Given the description of an element on the screen output the (x, y) to click on. 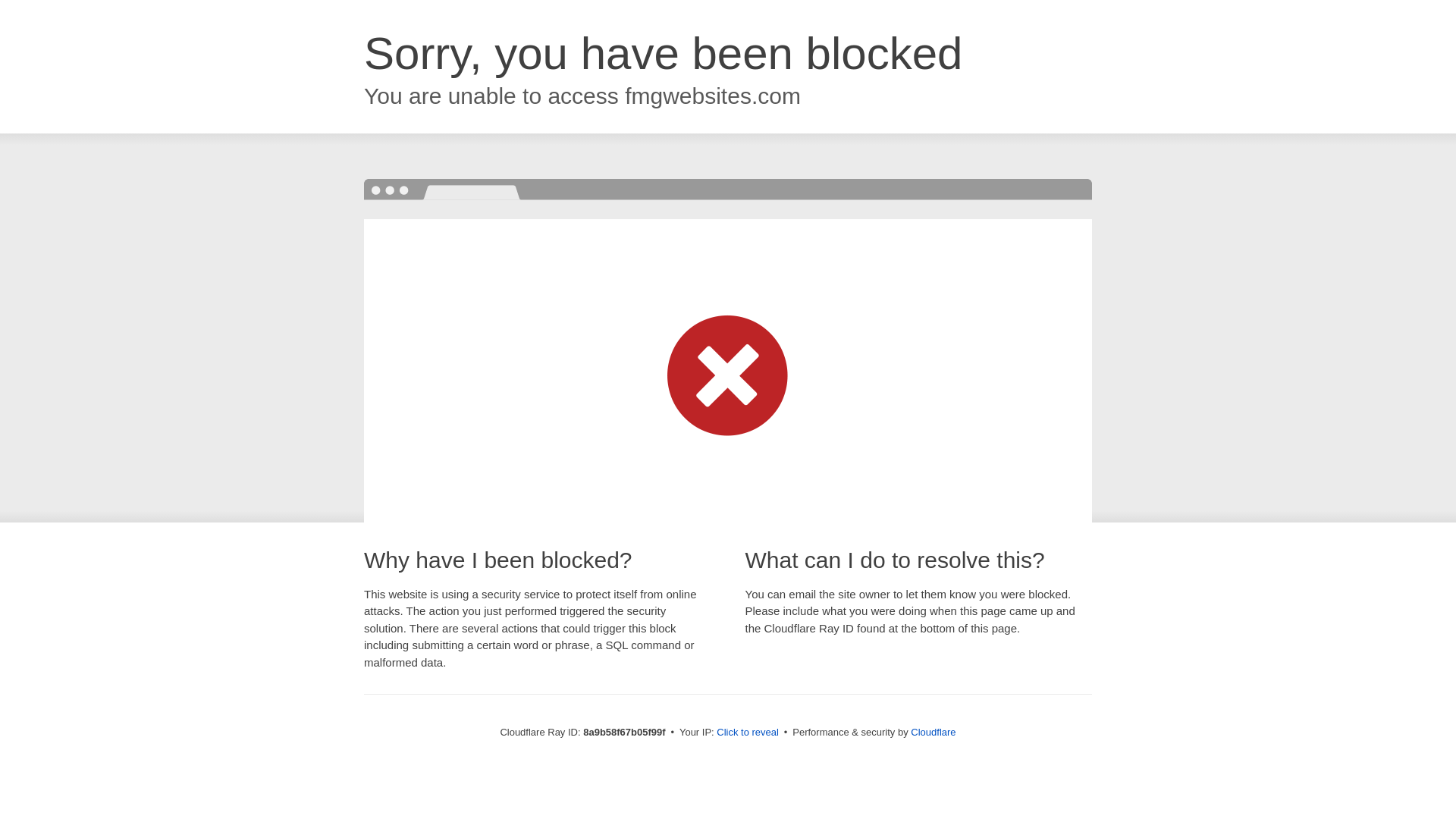
Cloudflare (933, 731)
Click to reveal (747, 732)
